Given the description of an element on the screen output the (x, y) to click on. 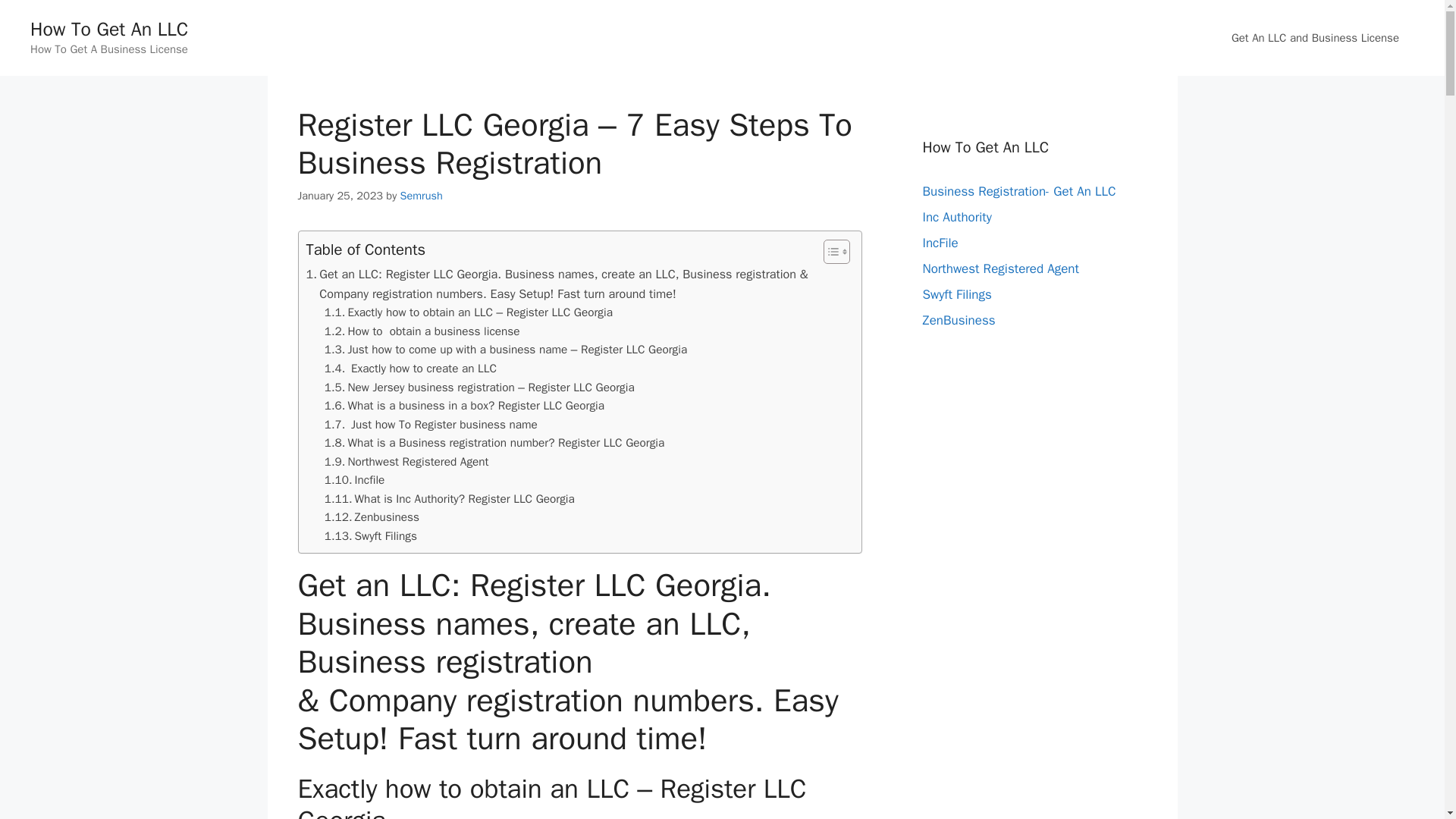
Zenbusiness (371, 517)
How To Get An LLC (108, 28)
What is Inc Authority? Register LLC Georgia (449, 498)
What is a business in a box? Register LLC Georgia (464, 405)
What is a business in a box? Register LLC Georgia (464, 405)
Get An LLC and Business License (1314, 37)
How to  obtain a business license (421, 331)
View all posts by Semrush (421, 195)
 Exactly how to create an LLC (410, 368)
What is Inc Authority? Register LLC Georgia (449, 498)
